Given the description of an element on the screen output the (x, y) to click on. 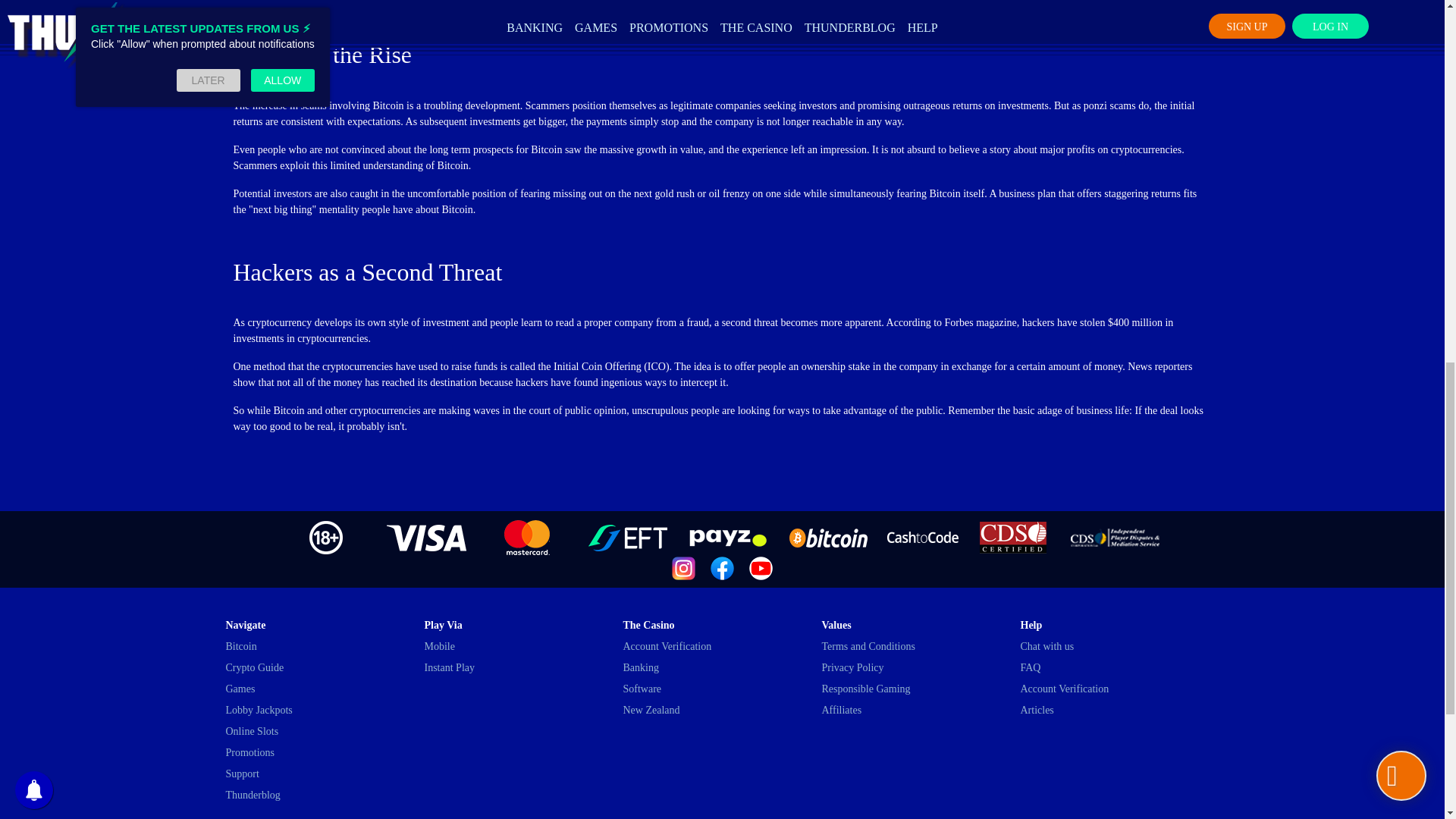
Thunderblog (253, 794)
Promotions (250, 752)
Thunderbolt Casino (722, 567)
Mobile (439, 645)
Instant Play (450, 667)
Crypto Guide (254, 667)
Thunderbolt Casino (721, 567)
Games (240, 688)
